Given the description of an element on the screen output the (x, y) to click on. 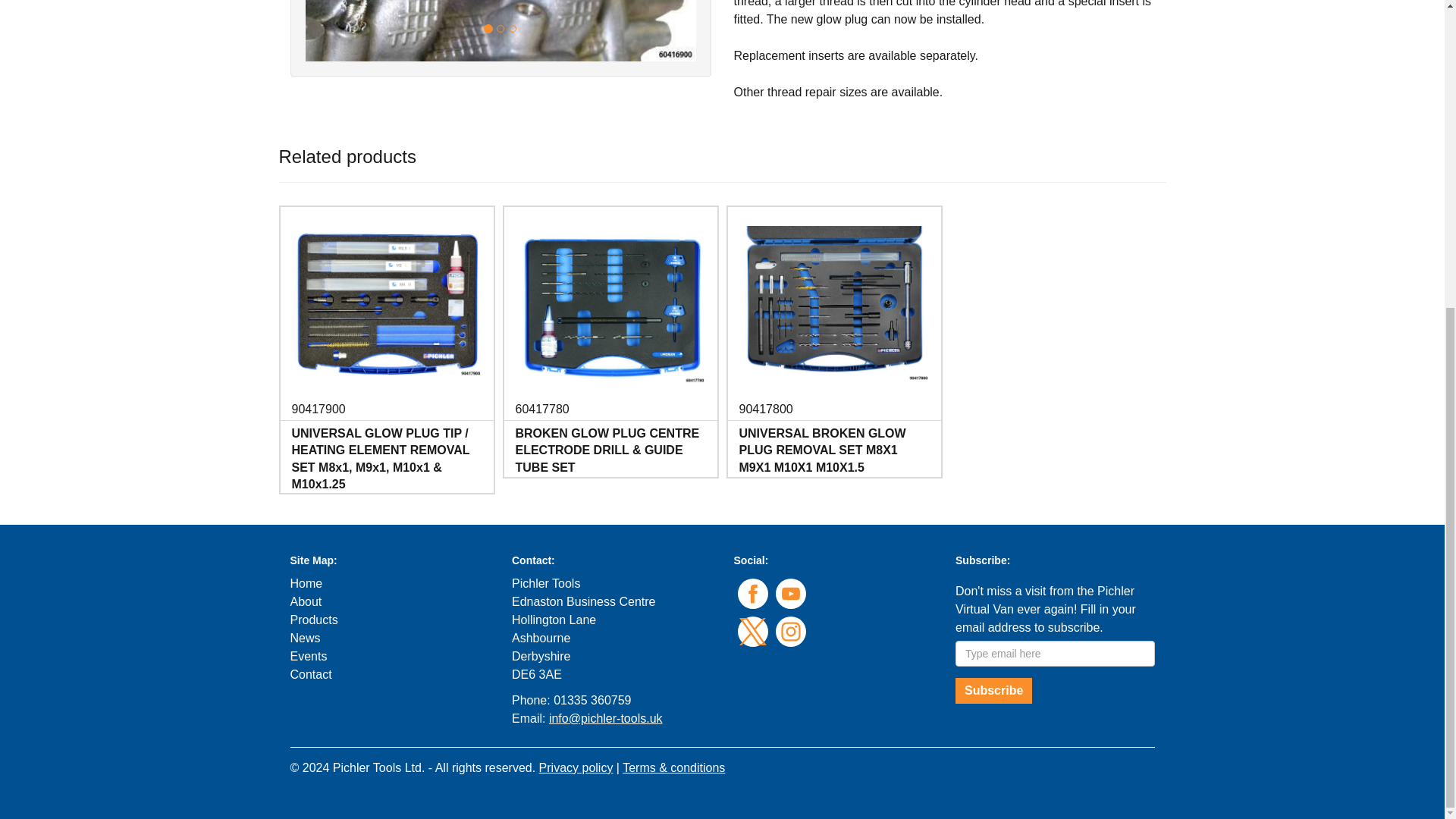
Products (313, 619)
YouTube social icon (789, 593)
Events (307, 656)
YouTube social icon (789, 593)
Twitter X social icon (751, 631)
Privacy policy (575, 767)
Next (666, 30)
About (305, 601)
01335 360759 (591, 699)
Contact (310, 674)
